Given the description of an element on the screen output the (x, y) to click on. 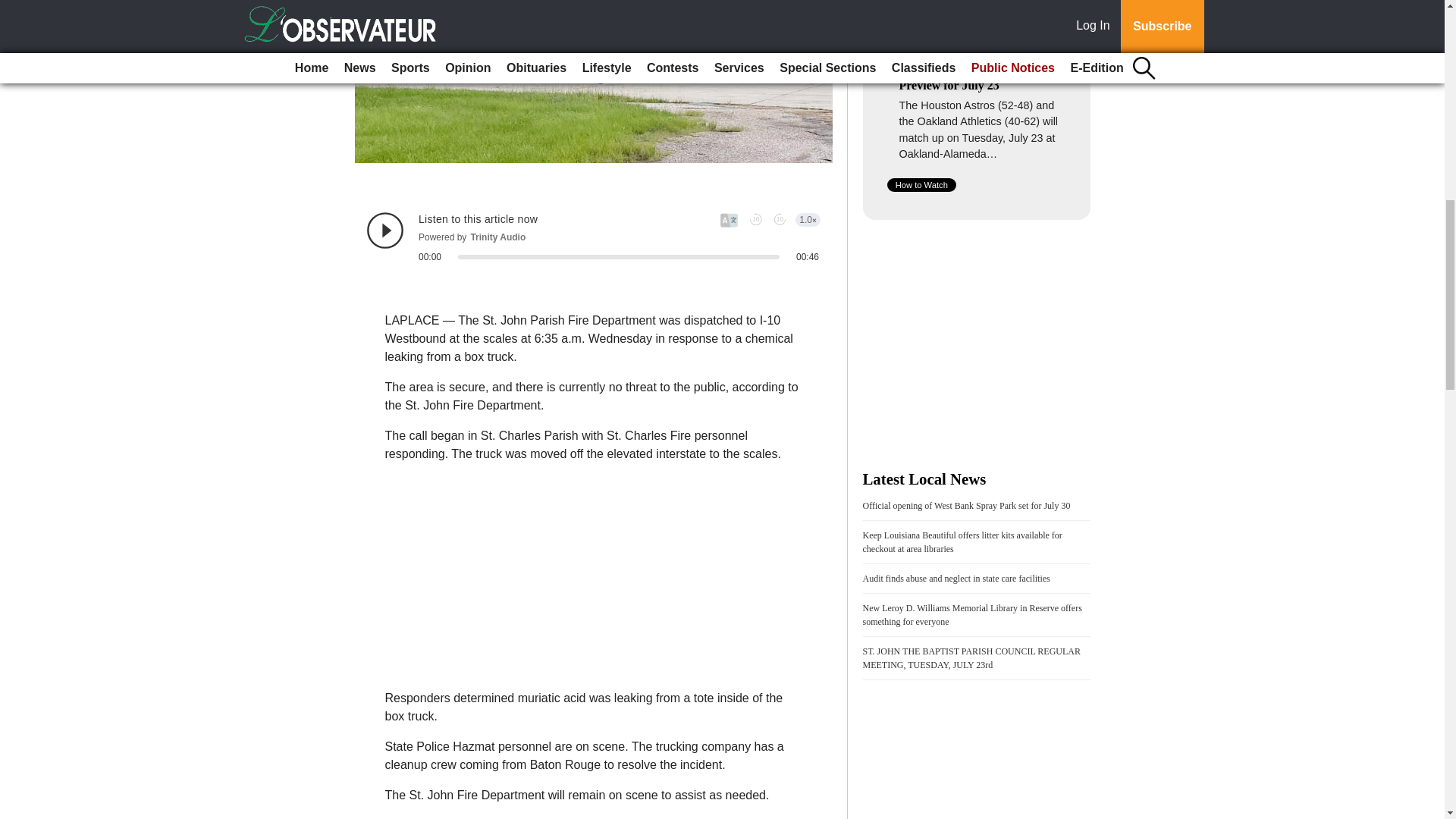
Audit finds abuse and neglect in state care facilities (956, 578)
Official opening of West Bank Spray Park set for July 30 (966, 505)
Astros vs. Athletics: Betting Preview for July 23 (970, 77)
Trinity Audio Player (592, 237)
How to Watch (921, 184)
